Given the description of an element on the screen output the (x, y) to click on. 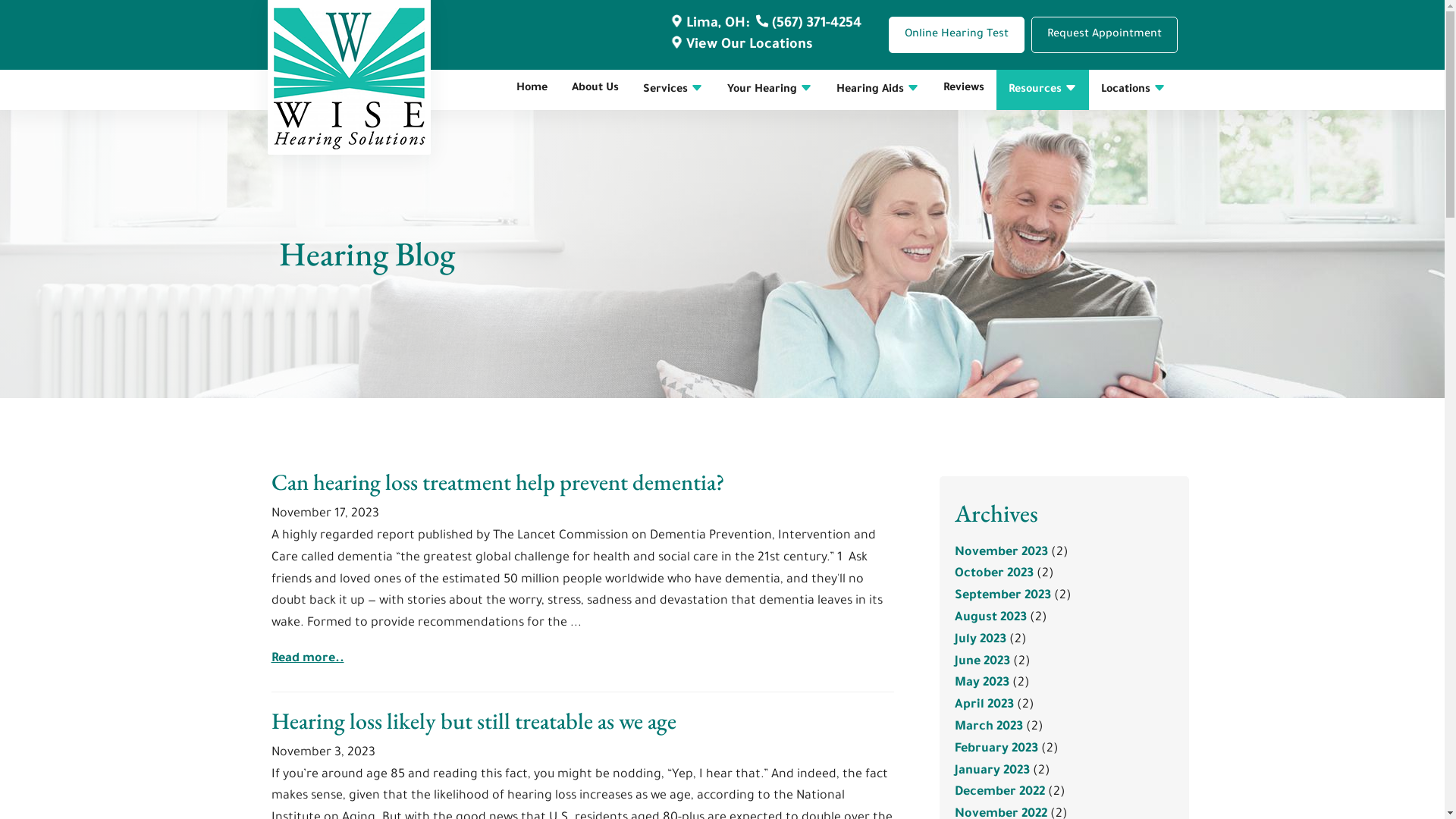
About Us Element type: text (594, 88)
December 2022 Element type: text (998, 792)
Hearing loss likely but still treatable as we age Element type: text (473, 720)
January 2023 Element type: text (991, 771)
(567) 371-4254 Element type: text (806, 23)
February 2023 Element type: text (995, 749)
Services Element type: text (672, 89)
April 2023 Element type: text (983, 705)
August 2023 Element type: text (989, 617)
Read more.. Element type: text (307, 658)
Can hearing loss treatment help prevent dementia? Element type: text (497, 481)
Resources Element type: text (1042, 89)
Locations Element type: text (1132, 89)
Online Hearing Test Element type: text (956, 34)
November 2023 Element type: text (1000, 552)
May 2023 Element type: text (980, 683)
Hearing Aids Element type: text (876, 89)
September 2023 Element type: text (1001, 595)
Home Element type: text (530, 88)
July 2023 Element type: text (979, 639)
View Our Locations Element type: text (739, 45)
Lima, OH: Element type: text (708, 23)
June 2023 Element type: text (981, 661)
Reviews Element type: text (963, 88)
Request Appointment Element type: text (1104, 34)
Your Hearing Element type: text (768, 89)
October 2023 Element type: text (992, 573)
March 2023 Element type: text (987, 727)
